Given the description of an element on the screen output the (x, y) to click on. 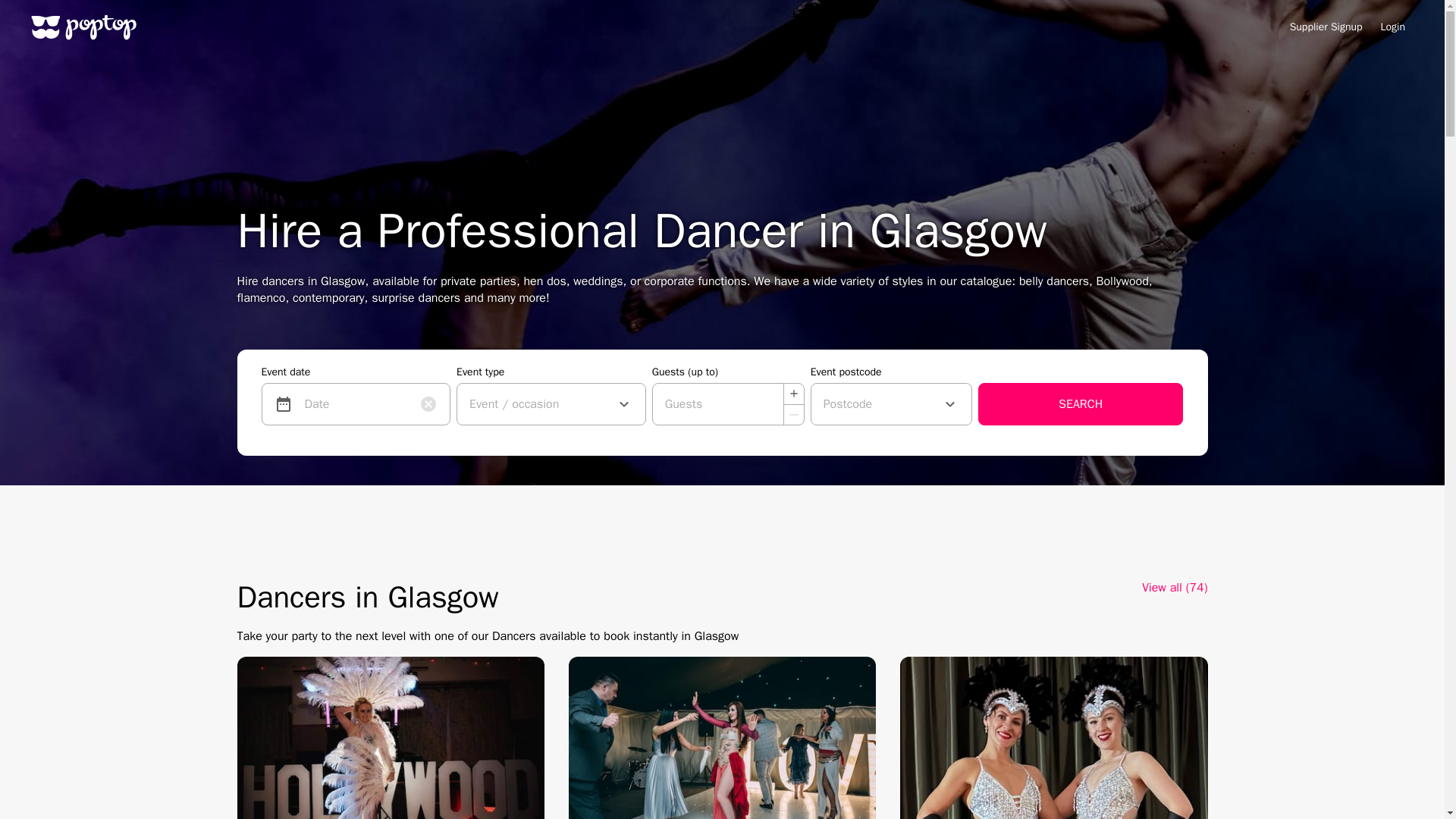
Login (1392, 26)
Supplier Signup (1326, 26)
SEARCH (1080, 404)
